Given the description of an element on the screen output the (x, y) to click on. 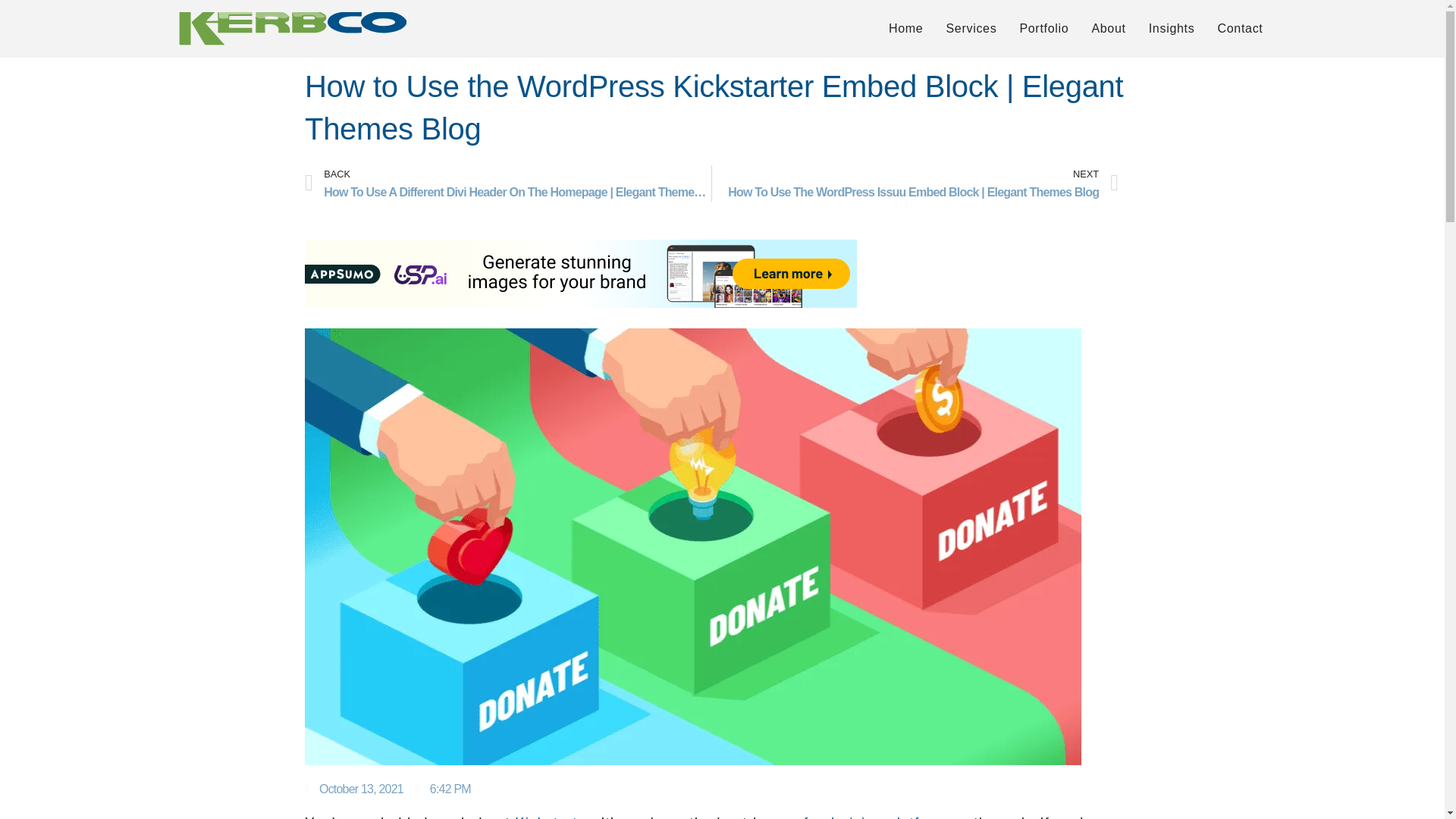
About (1108, 28)
Insights (1172, 28)
Home (905, 28)
Contact (1239, 28)
fundraising platform (875, 816)
Services (970, 28)
Portfolio (1043, 28)
Kickstarter (553, 816)
